Given the description of an element on the screen output the (x, y) to click on. 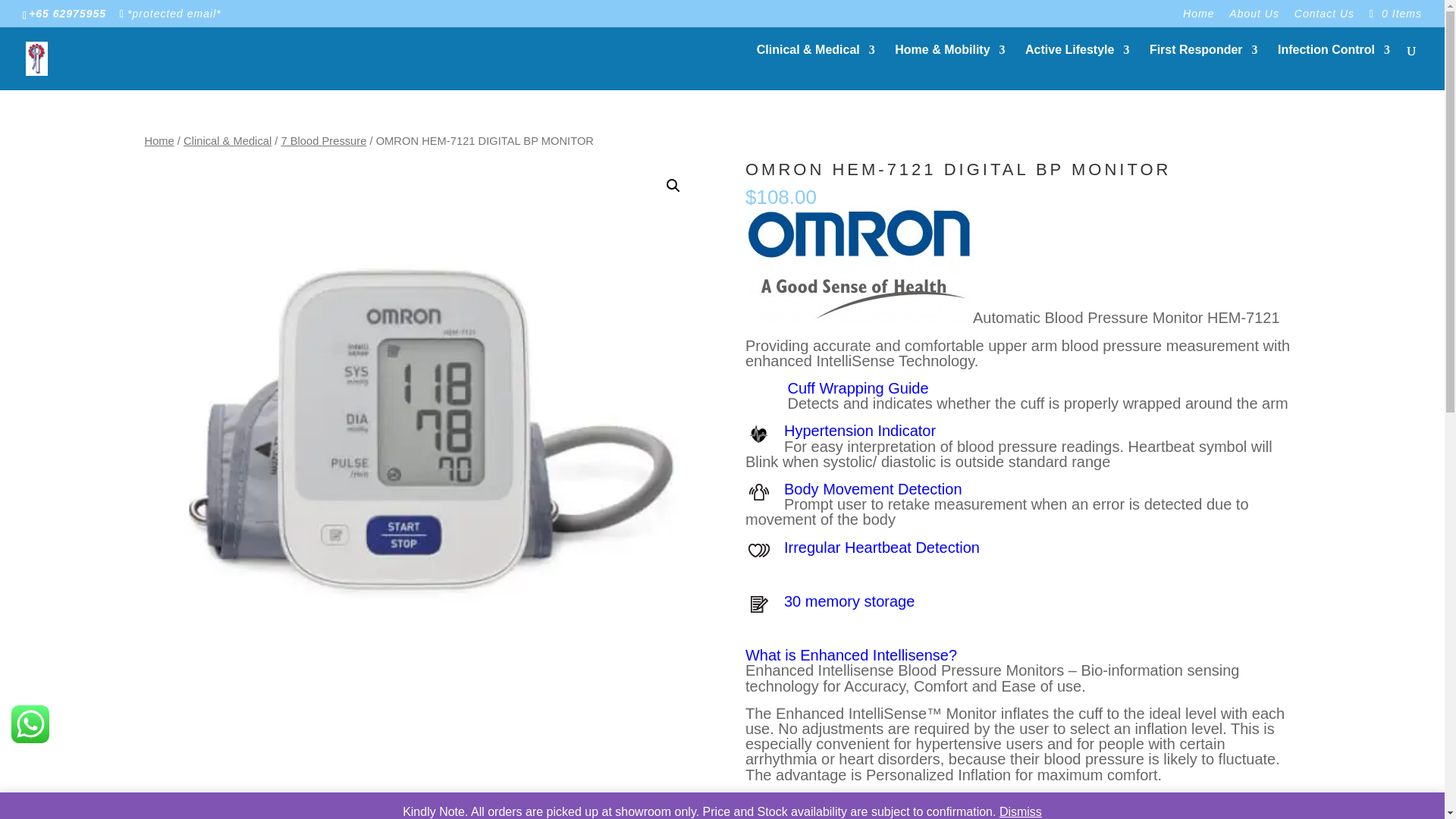
1 (767, 810)
Contact Us (1324, 16)
Home (1198, 16)
0 Items (1393, 13)
About Us (1253, 16)
